Given the description of an element on the screen output the (x, y) to click on. 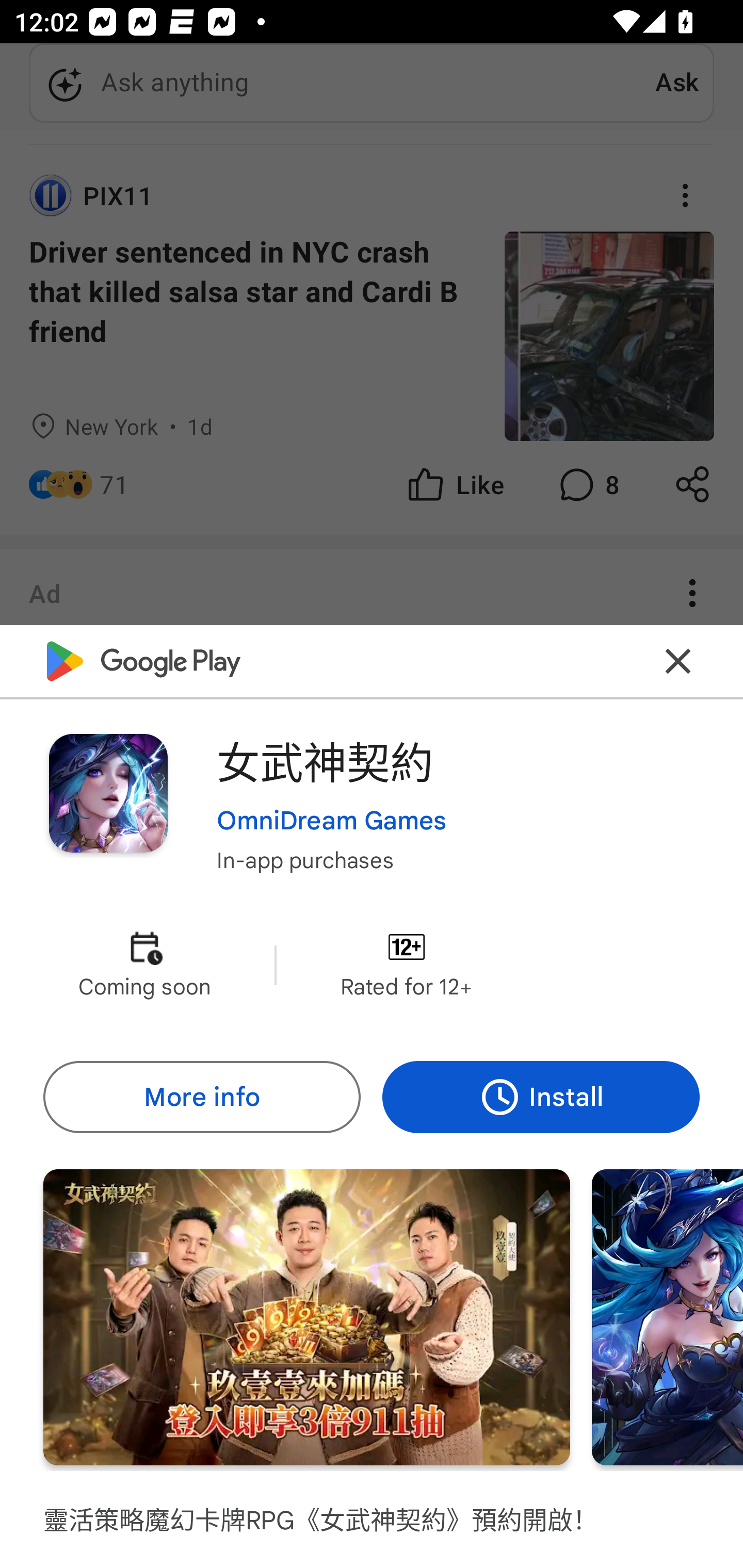
Close (677, 661)
Image of app or game icon for 女武神契約 (108, 792)
OmniDream Games (331, 820)
More info (201, 1097)
Install (540, 1097)
Screenshot "1" of "5" (306, 1317)
Screenshot "2" of "5" (667, 1317)
